Given the description of an element on the screen output the (x, y) to click on. 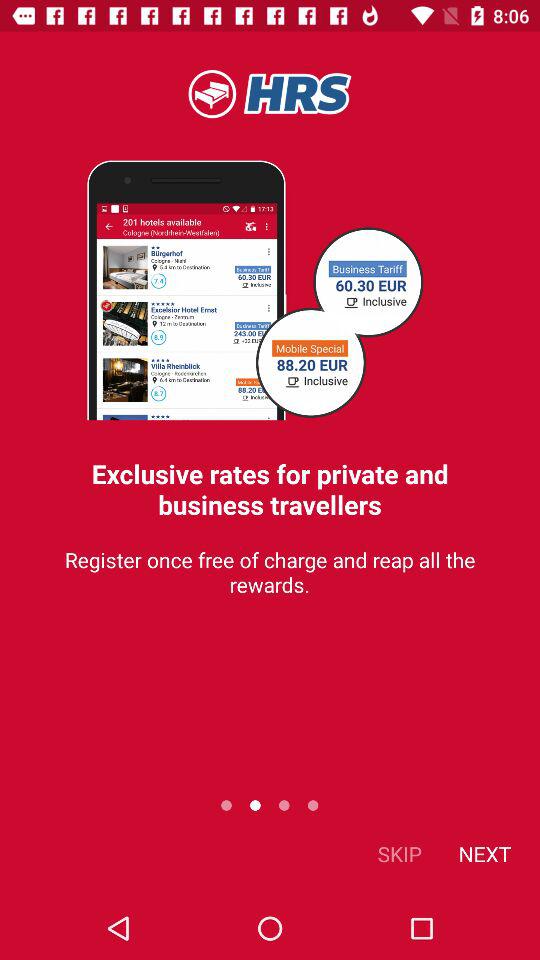
scroll to skip icon (399, 853)
